Given the description of an element on the screen output the (x, y) to click on. 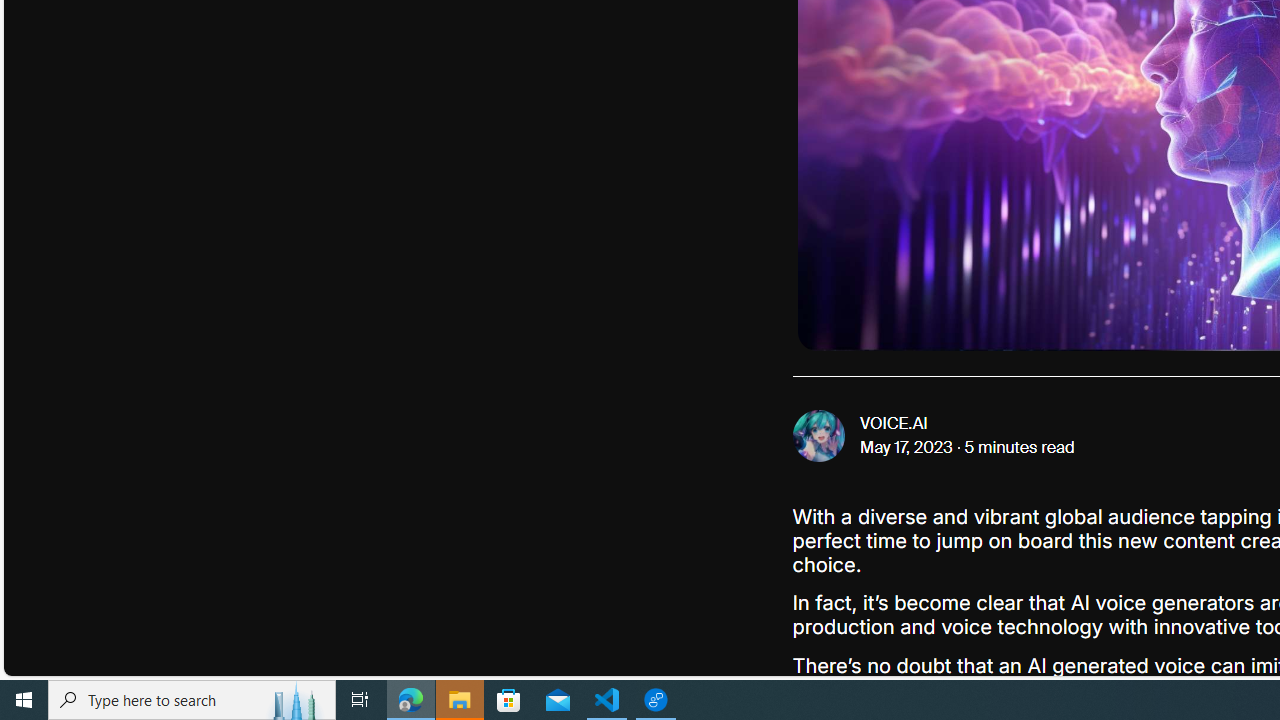
May 17, 2023 (907, 448)
5 minutes read (1019, 448)
VOICE.AI (894, 423)
